Given the description of an element on the screen output the (x, y) to click on. 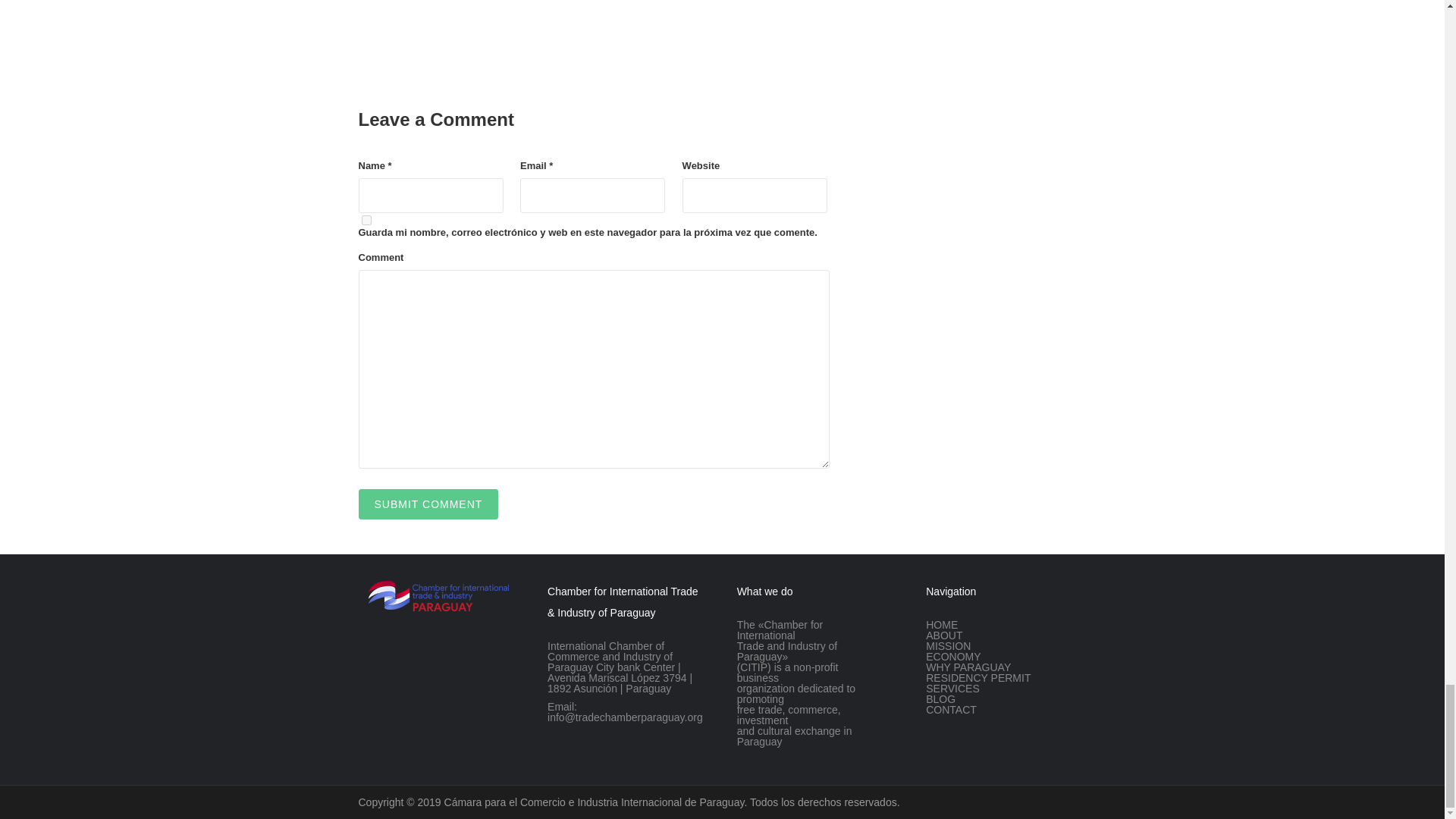
Submit Comment (427, 503)
yes (366, 220)
